Given the description of an element on the screen output the (x, y) to click on. 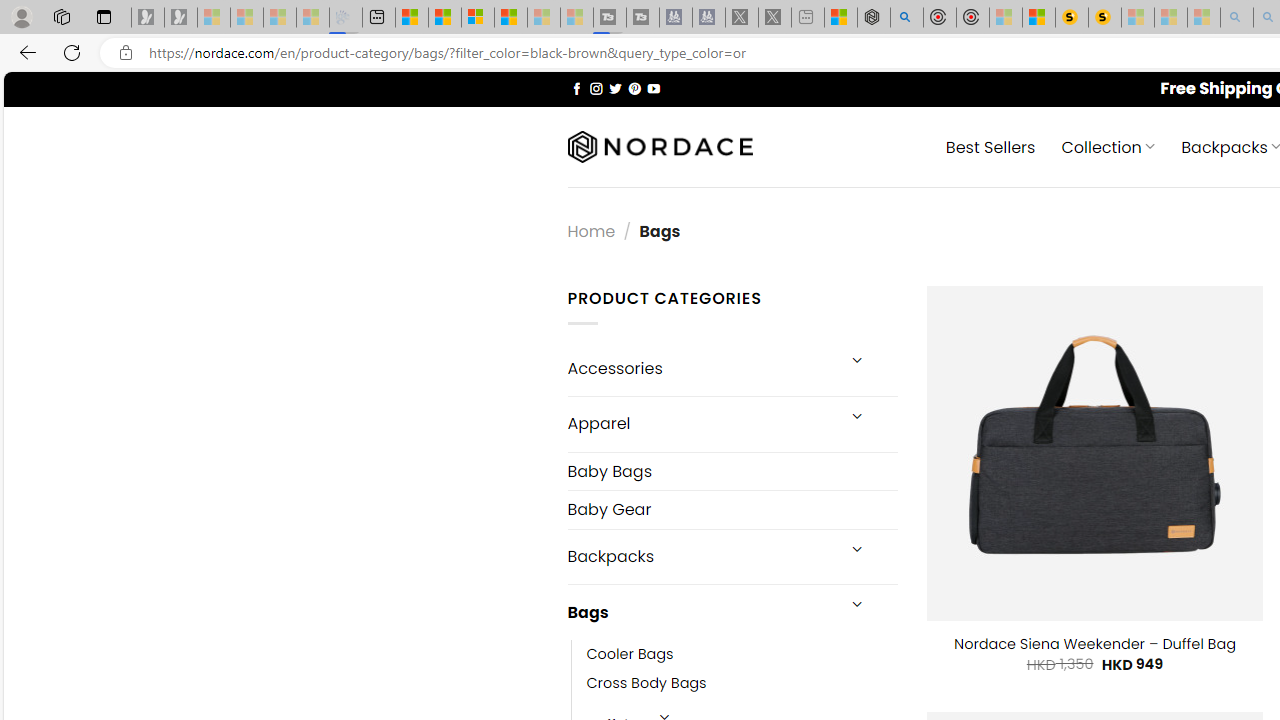
Follow on Pinterest (634, 88)
